Given the description of an element on the screen output the (x, y) to click on. 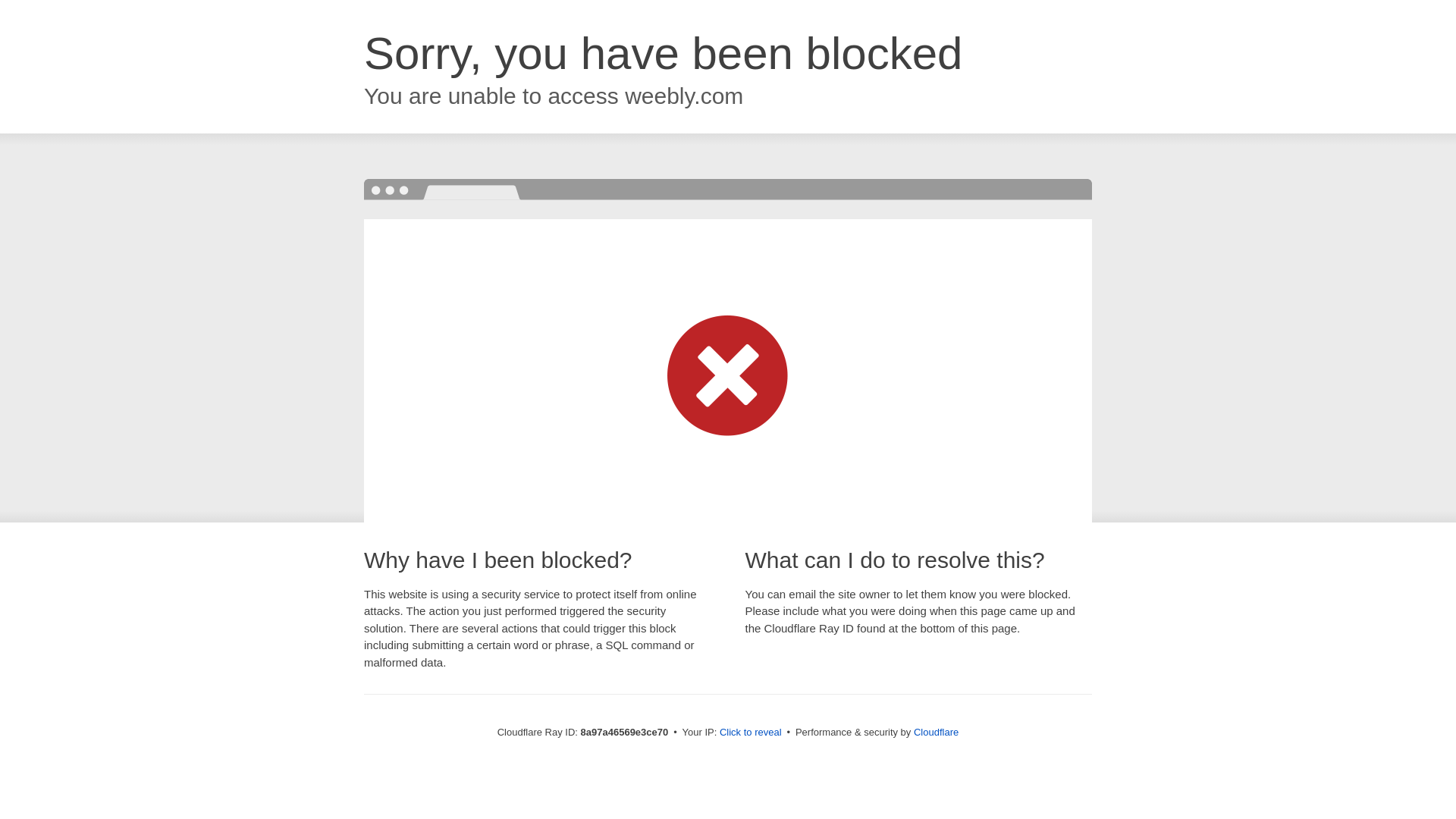
Cloudflare (936, 731)
Click to reveal (750, 732)
